Given the description of an element on the screen output the (x, y) to click on. 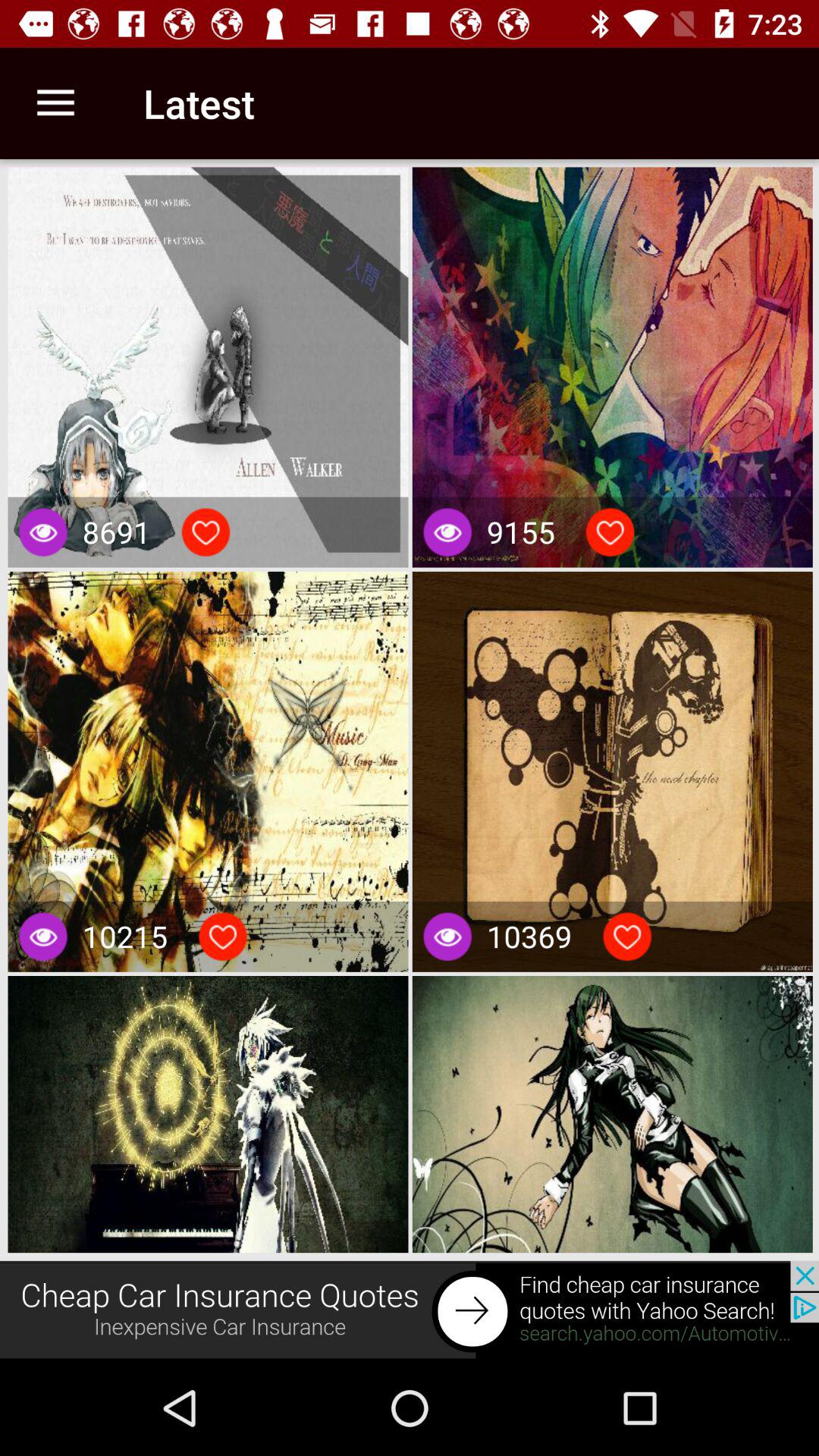
like post (610, 532)
